Given the description of an element on the screen output the (x, y) to click on. 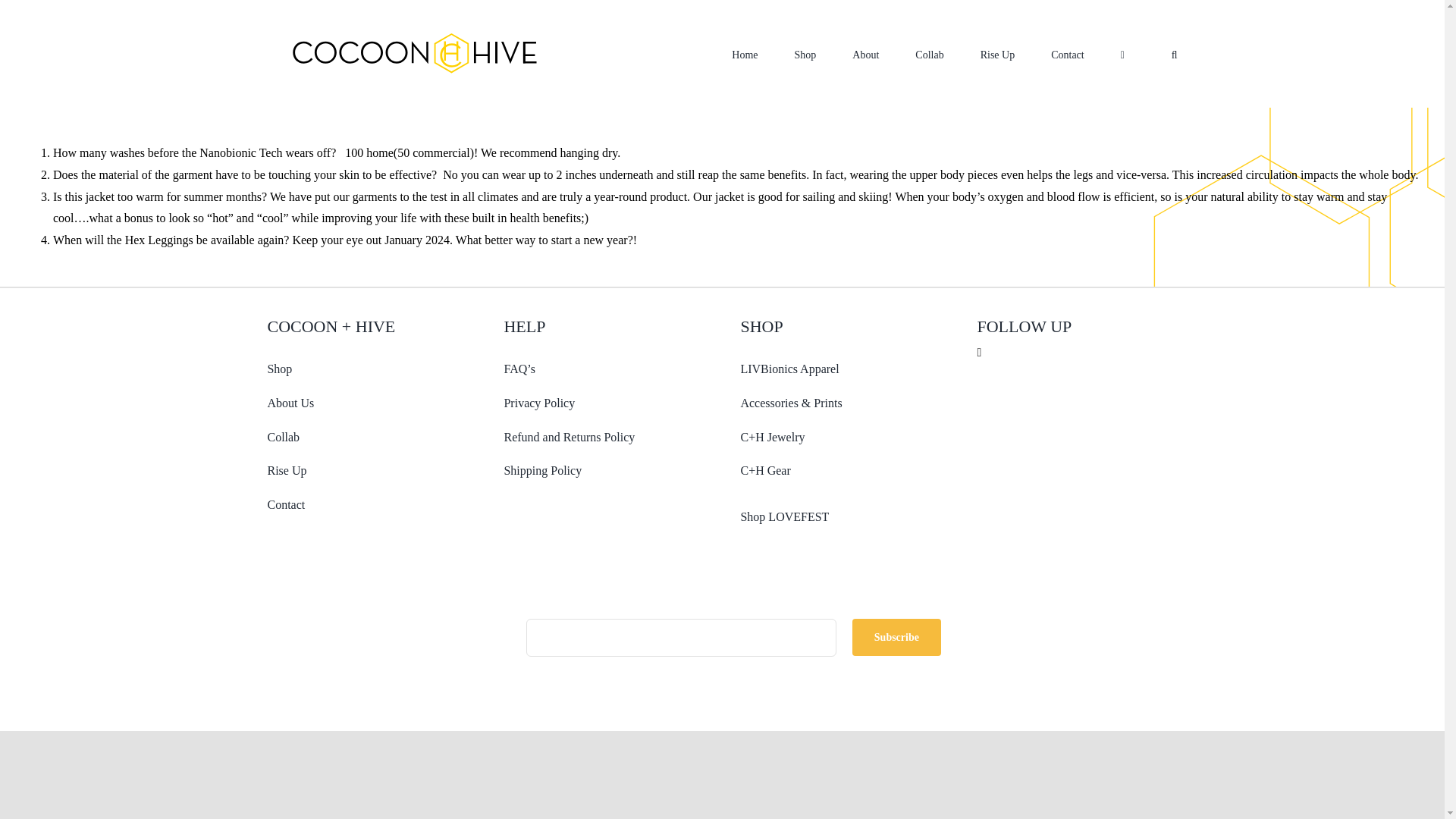
Contact (285, 504)
About Us (290, 402)
Shipping Policy (541, 470)
Rise Up (285, 470)
Shop LOVEFEST (783, 516)
Subscribe (721, 649)
Privacy Policy (539, 402)
Collab (282, 436)
Shop (279, 368)
Refund and Returns Policy (568, 436)
